Given the description of an element on the screen output the (x, y) to click on. 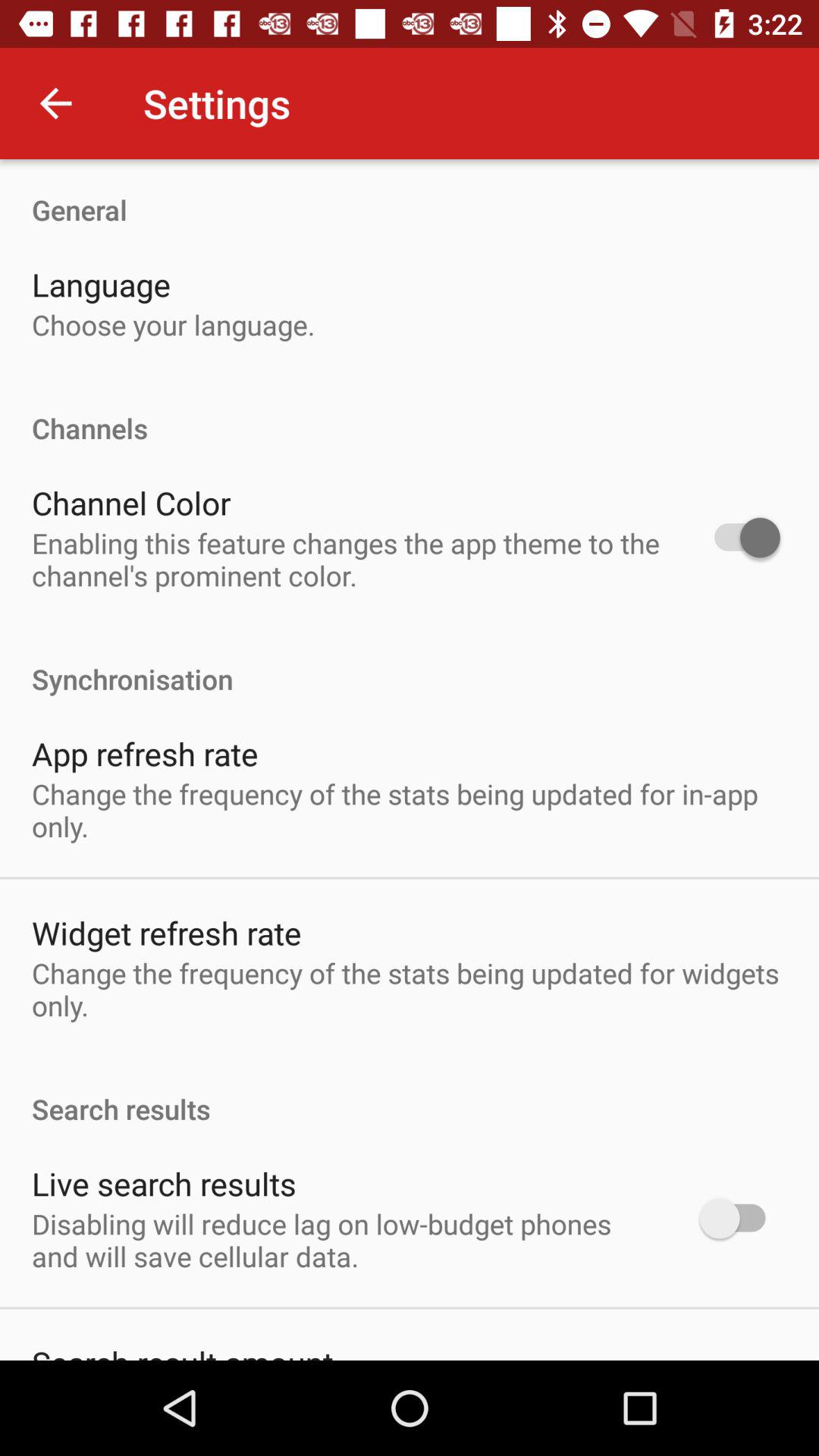
open the disabling will reduce (345, 1240)
